Given the description of an element on the screen output the (x, y) to click on. 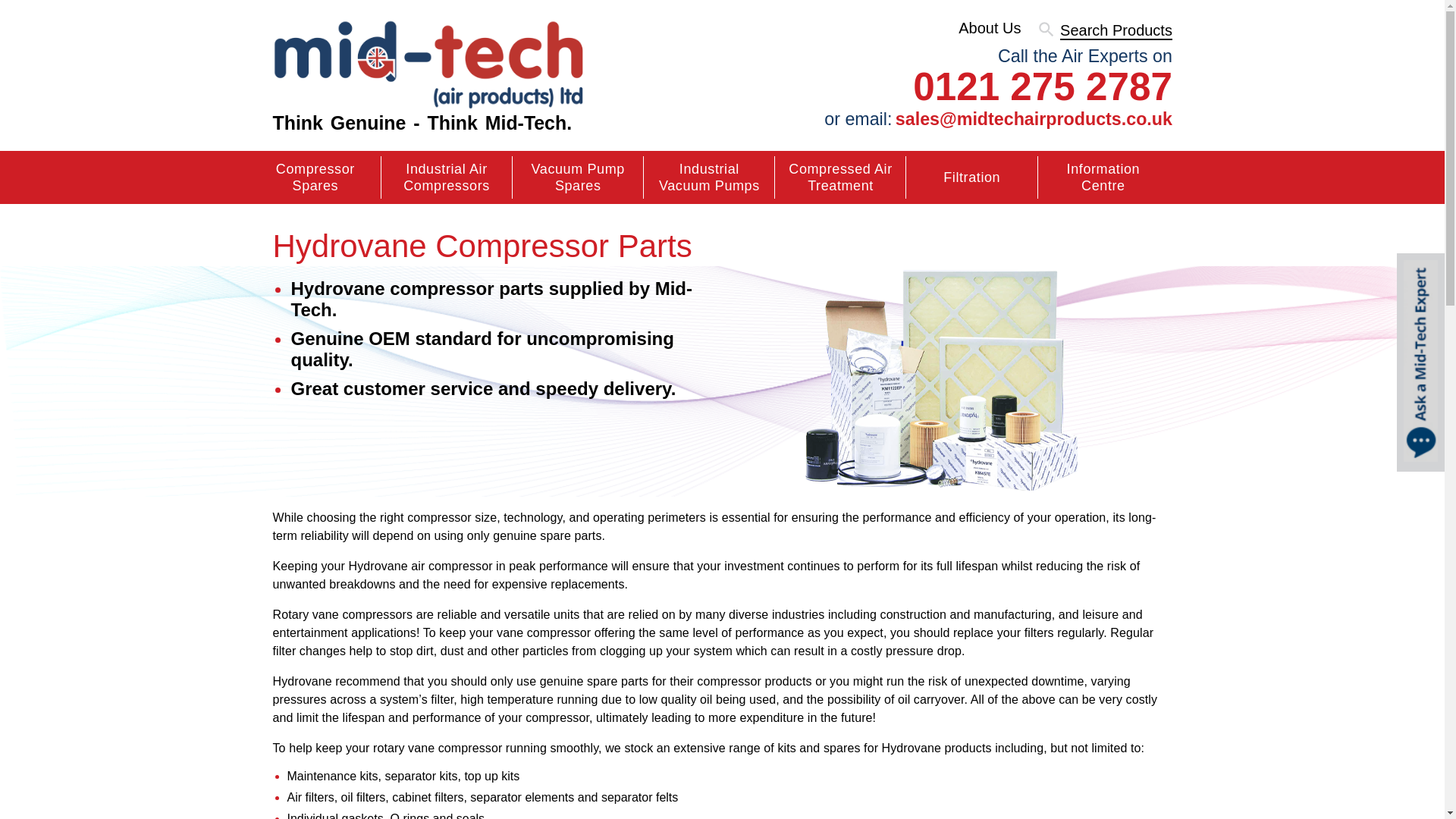
Industrial Air Compressors (446, 177)
Industrial Vacuum Pumps (709, 177)
Compressed Air Treatment (840, 177)
0121 275 2787 (998, 87)
Compressor Spares (314, 177)
About Us (989, 27)
Vacuum Pump Spares (578, 177)
